Given the description of an element on the screen output the (x, y) to click on. 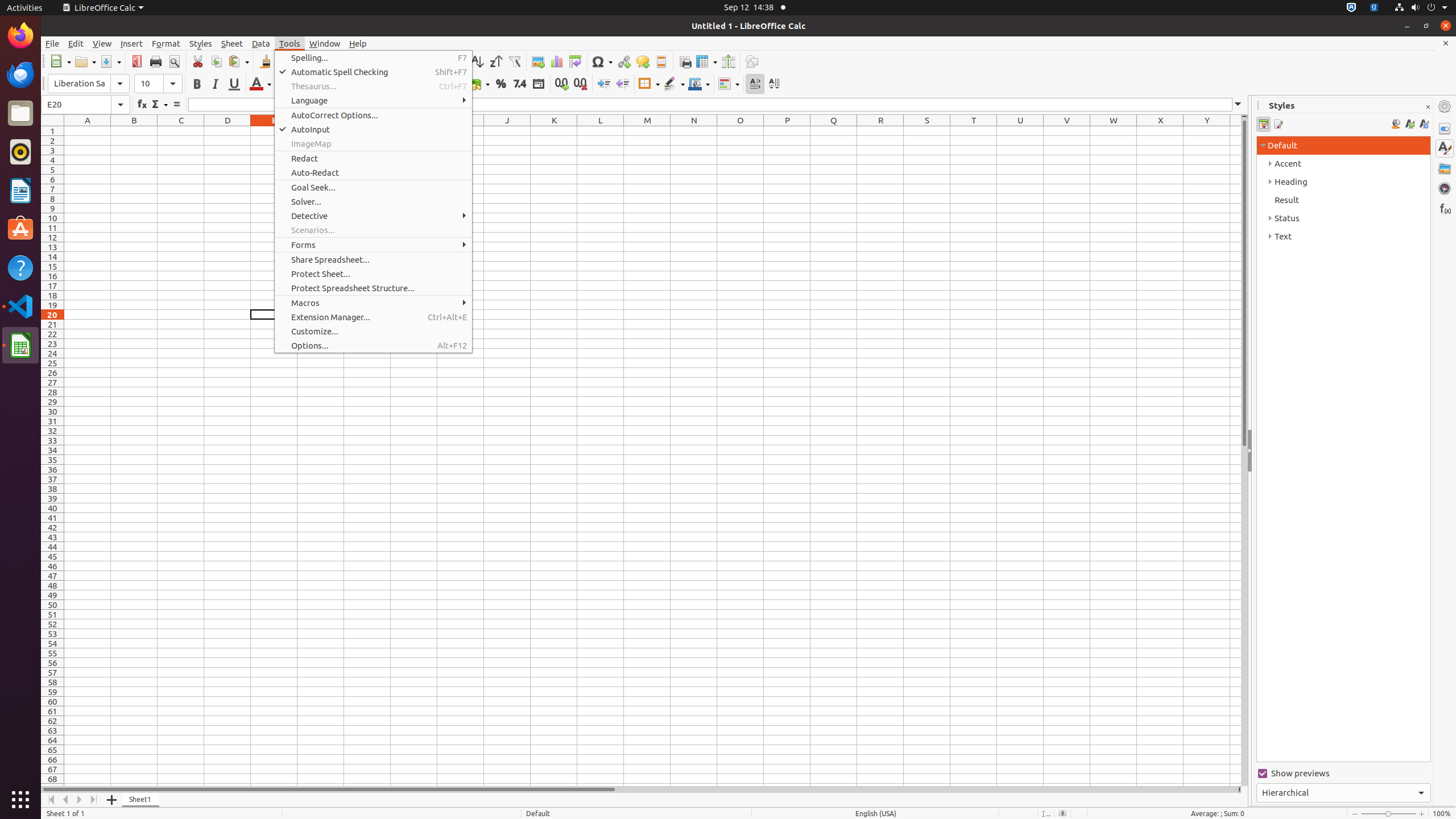
Font Size Element type: combo-box (158, 83)
Help Element type: menu (357, 43)
Rhythmbox Element type: push-button (20, 151)
:1.21/StatusNotifierItem Element type: menu (1373, 7)
V1 Element type: table-cell (1066, 130)
